Given the description of an element on the screen output the (x, y) to click on. 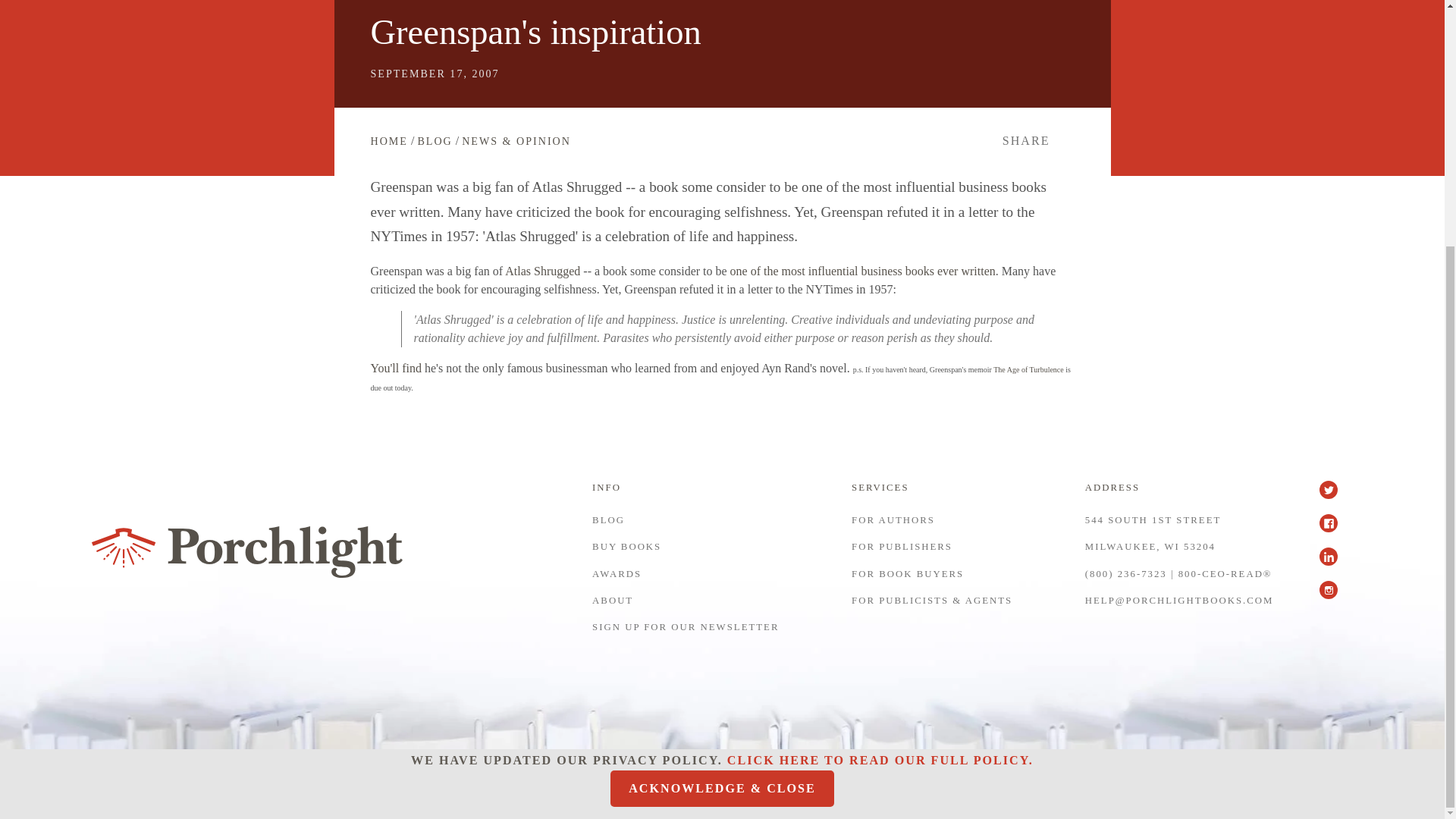
Twitter (1335, 497)
Facebook (1335, 530)
Instagram (1335, 597)
LinkedIn (1335, 563)
Blog (433, 141)
